Given the description of an element on the screen output the (x, y) to click on. 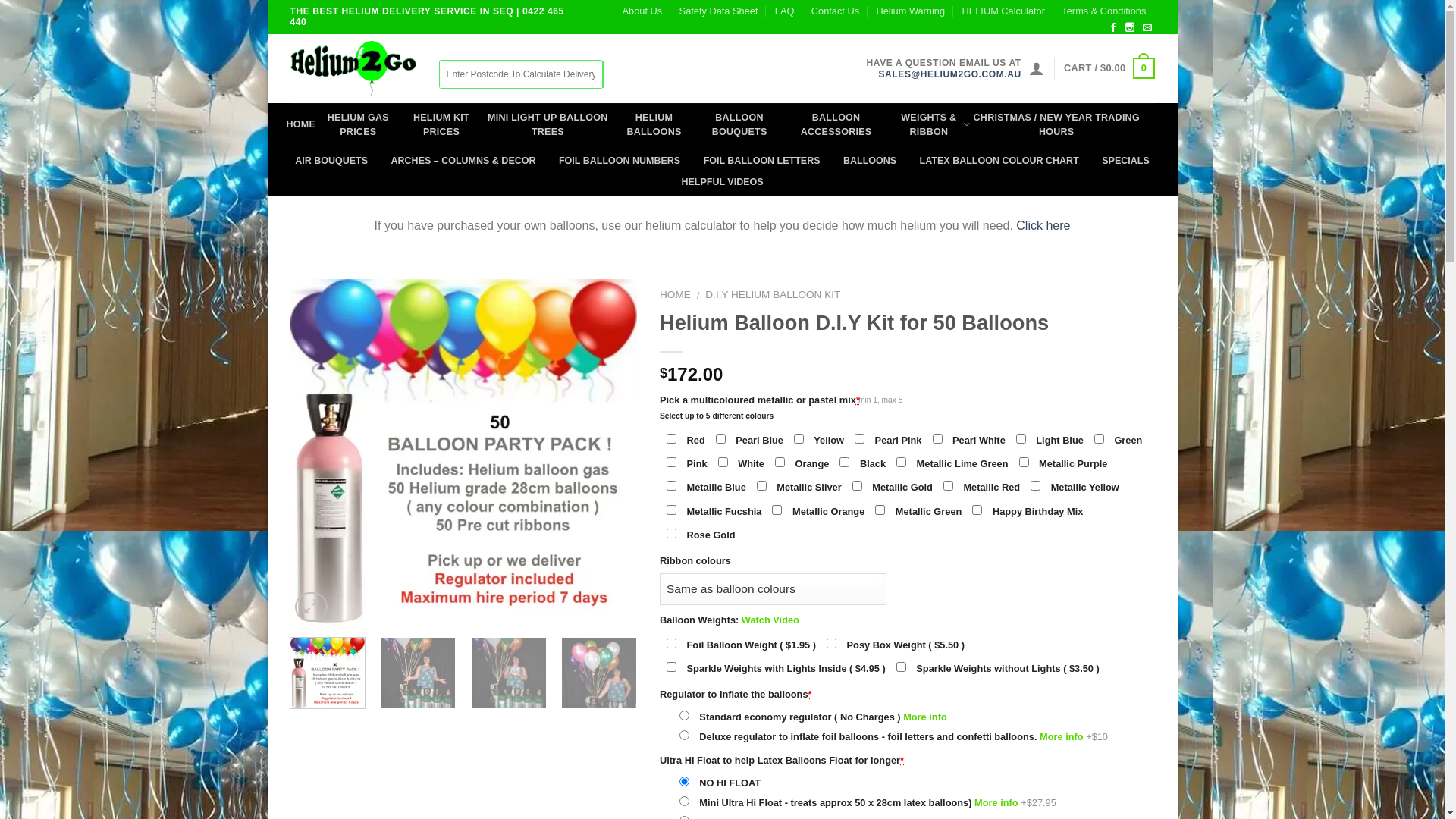
HELPFUL VIDEOS Element type: text (721, 182)
More info Element type: text (1061, 736)
More info Element type: text (925, 716)
HELIUM GAS PRICES Element type: text (358, 125)
Skip to content Element type: text (266, 0)
BALLOON ACCESSORIES Element type: text (835, 125)
HELIUM KIT PRICES Element type: text (441, 125)
BALLOONS Element type: text (869, 160)
D.I.Y HELIUM BALLOON KIT Element type: text (772, 294)
50 Party Pack 7 day hire Element type: hover (463, 452)
Watch Video Element type: text (770, 619)
HELIUM BALLOONS Element type: text (653, 125)
SPECIALS Element type: text (1125, 160)
More info Element type: text (996, 802)
Safety Data Sheet Element type: text (718, 10)
MINI LIGHT UP BALLOON TREES Element type: text (547, 125)
BALLOON BOUQUETS Element type: text (739, 125)
AIR BOUQUETS Element type: text (330, 160)
Helium Warning Element type: text (910, 10)
FAQ Element type: text (784, 10)
About Us Element type: text (642, 10)
WEIGHTS & RIBBON Element type: text (928, 125)
CART / $0.00
0 Element type: text (1108, 68)
HELIUM Calculator Element type: text (1002, 10)
FOIL BALLOON LETTERS Element type: text (761, 160)
SALES@HELIUM2GO.COM.AU Element type: text (943, 74)
50 Party Pack 7 day hire Element type: hover (463, 451)
helium tank rental helium 2 go3 Element type: hover (418, 674)
CHRISTMAS / NEW YEAR TRADING HOURS Element type: text (1056, 125)
FOIL BALLOON NUMBERS Element type: text (619, 160)
Terms & Conditions Element type: text (1103, 10)
Contact Us Element type: text (835, 10)
Helium Tank Rental helium 2 go Element type: hover (598, 674)
HOME Element type: text (674, 294)
helium tank rental helium 2 go2 Element type: hover (508, 674)
LATEX BALLOON COLOUR CHART Element type: text (999, 160)
Click here Element type: text (1043, 225)
HOME Element type: text (301, 124)
